Given the description of an element on the screen output the (x, y) to click on. 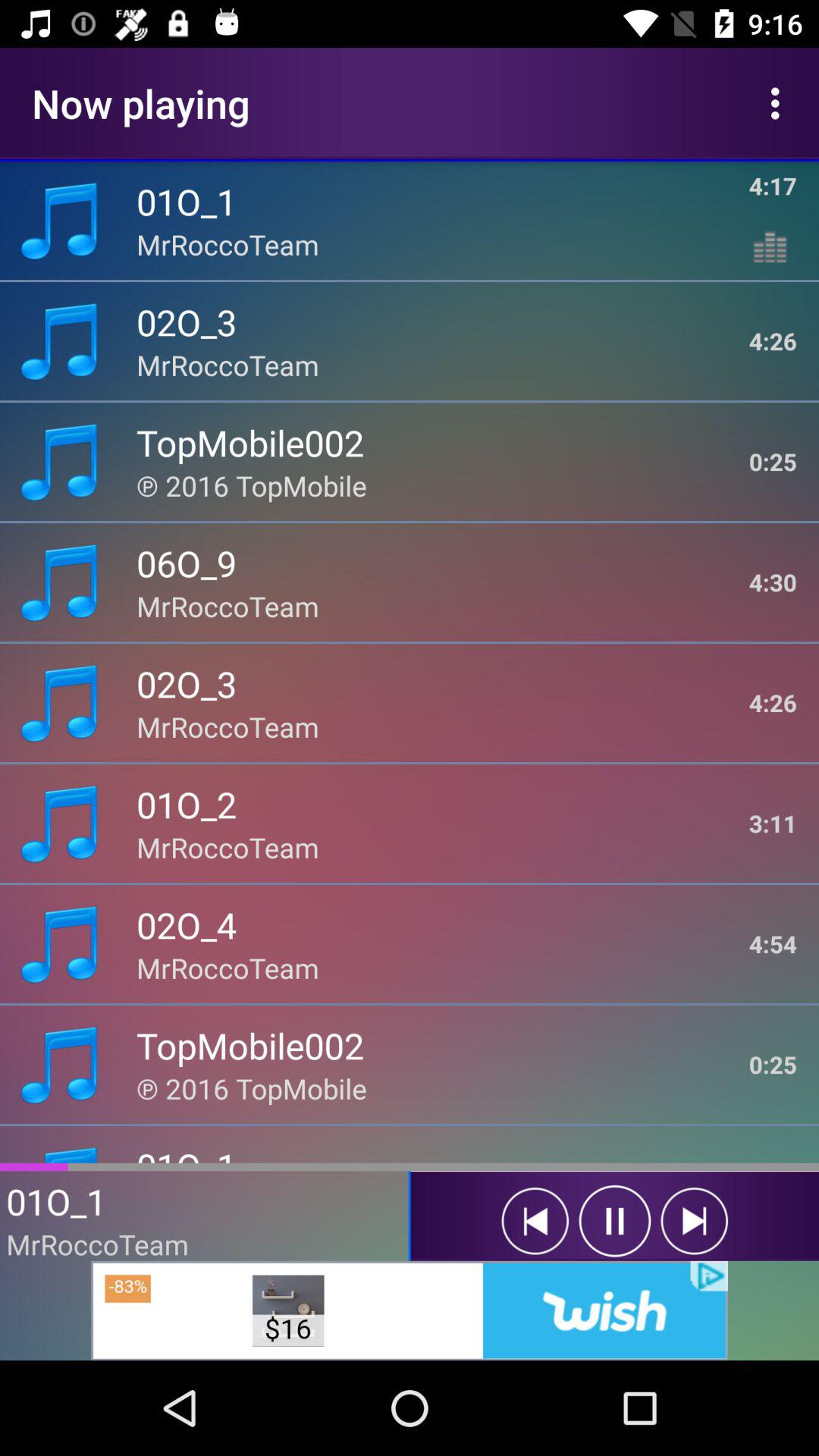
go to advertisement (409, 1310)
